Given the description of an element on the screen output the (x, y) to click on. 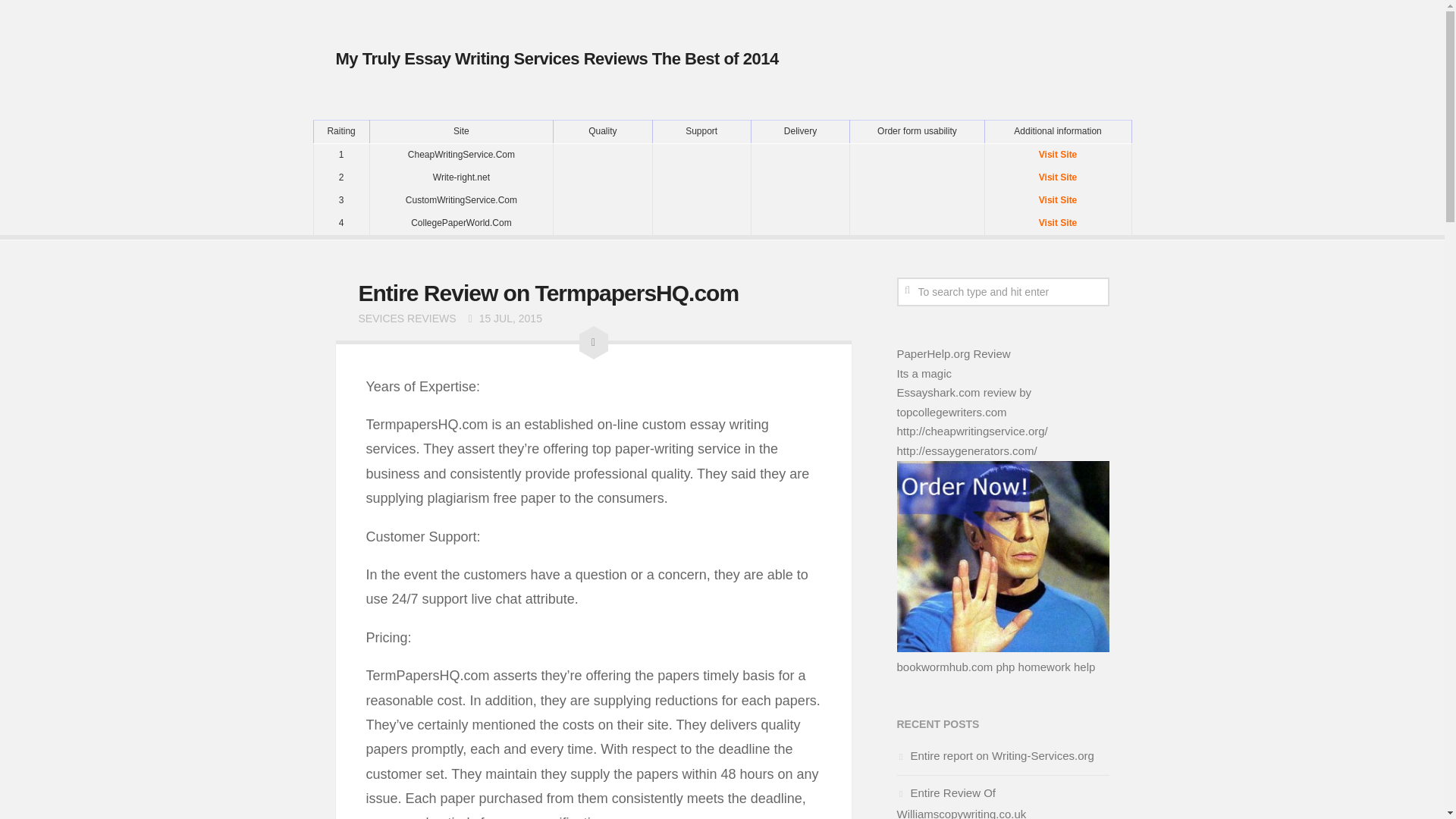
bookwormhub.com php homework help (995, 666)
Essayshark.com review by topcollegewriters.com (963, 401)
Entire report on Writing-Services.org (994, 755)
Visit Site (1057, 154)
SEVICES REVIEWS (406, 318)
To search type and hit enter (1002, 291)
PaperHelp.org Review (953, 353)
My Truly Essay Writing Services Reviews The Best of 2014 (555, 58)
Visit Site (1057, 176)
Visit Site (1057, 199)
Visit Site (1057, 222)
To search type and hit enter (1002, 291)
Entire Review Of Williamscopywriting.co.uk (961, 802)
